Given the description of an element on the screen output the (x, y) to click on. 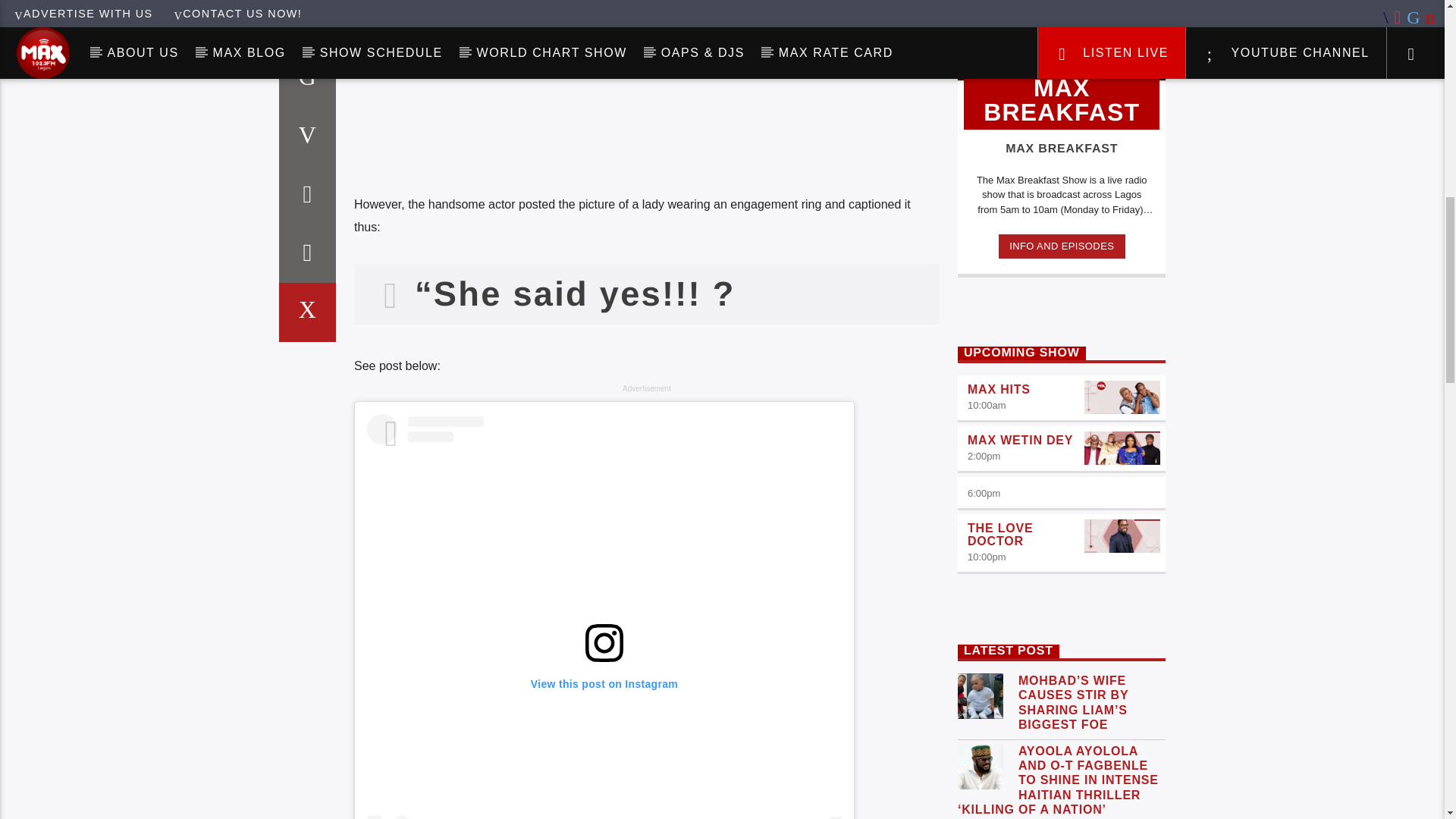
Advertisement (646, 119)
